Given the description of an element on the screen output the (x, y) to click on. 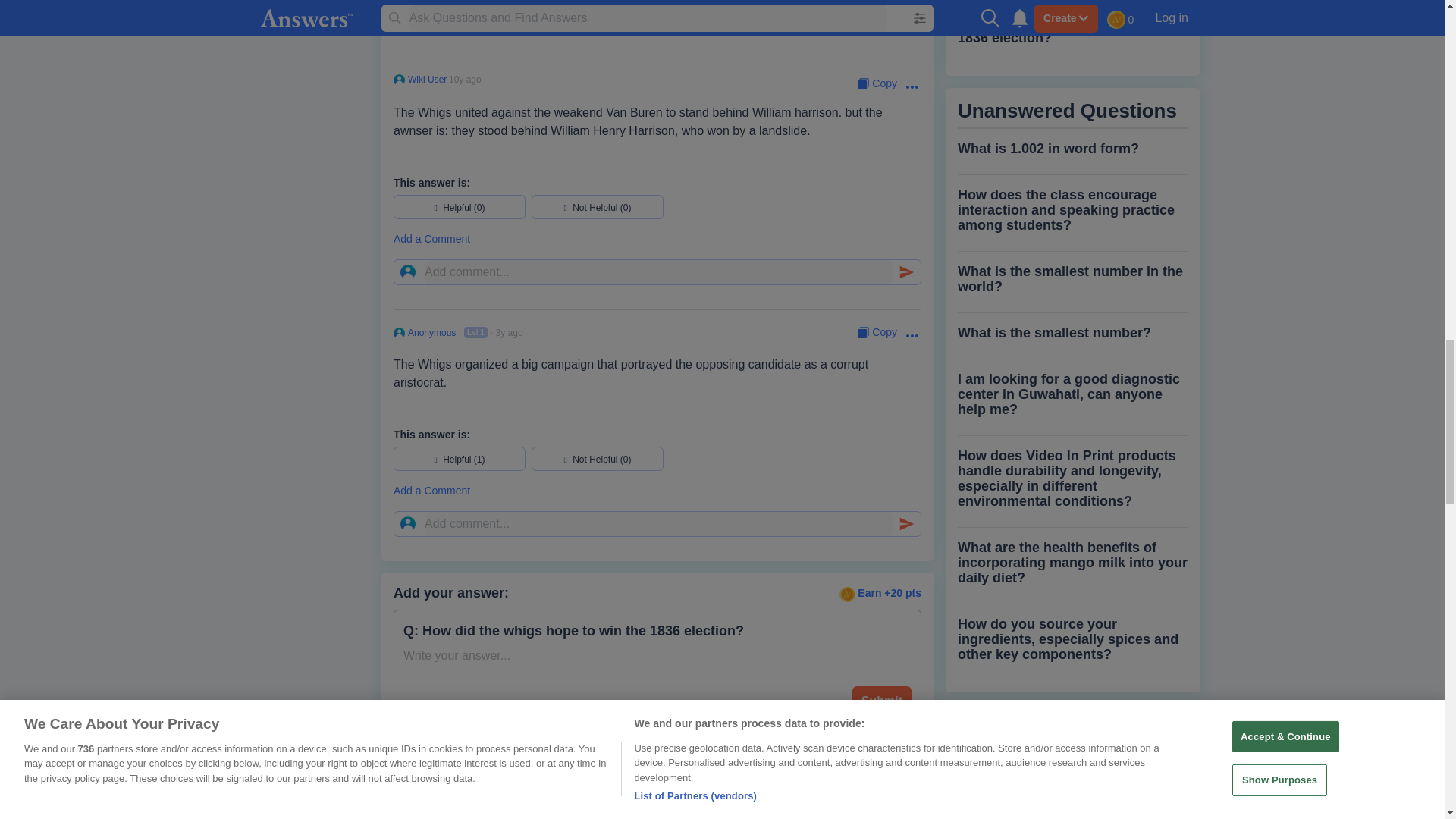
2020-10-22 18:39:42 (509, 332)
2014-04-24 03:57:22 (464, 79)
